Given the description of an element on the screen output the (x, y) to click on. 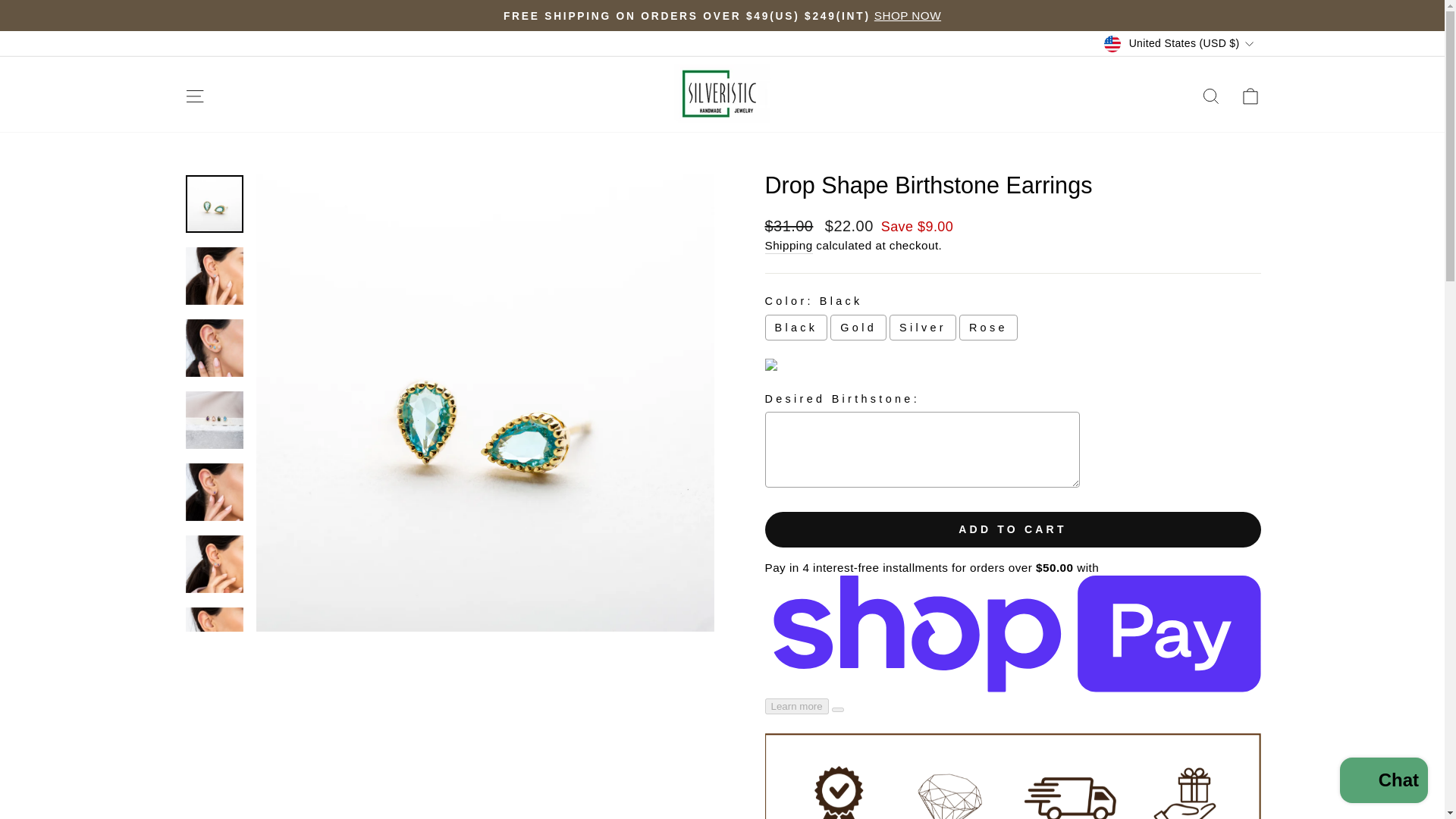
Shopify online store chat (1383, 781)
